Given the description of an element on the screen output the (x, y) to click on. 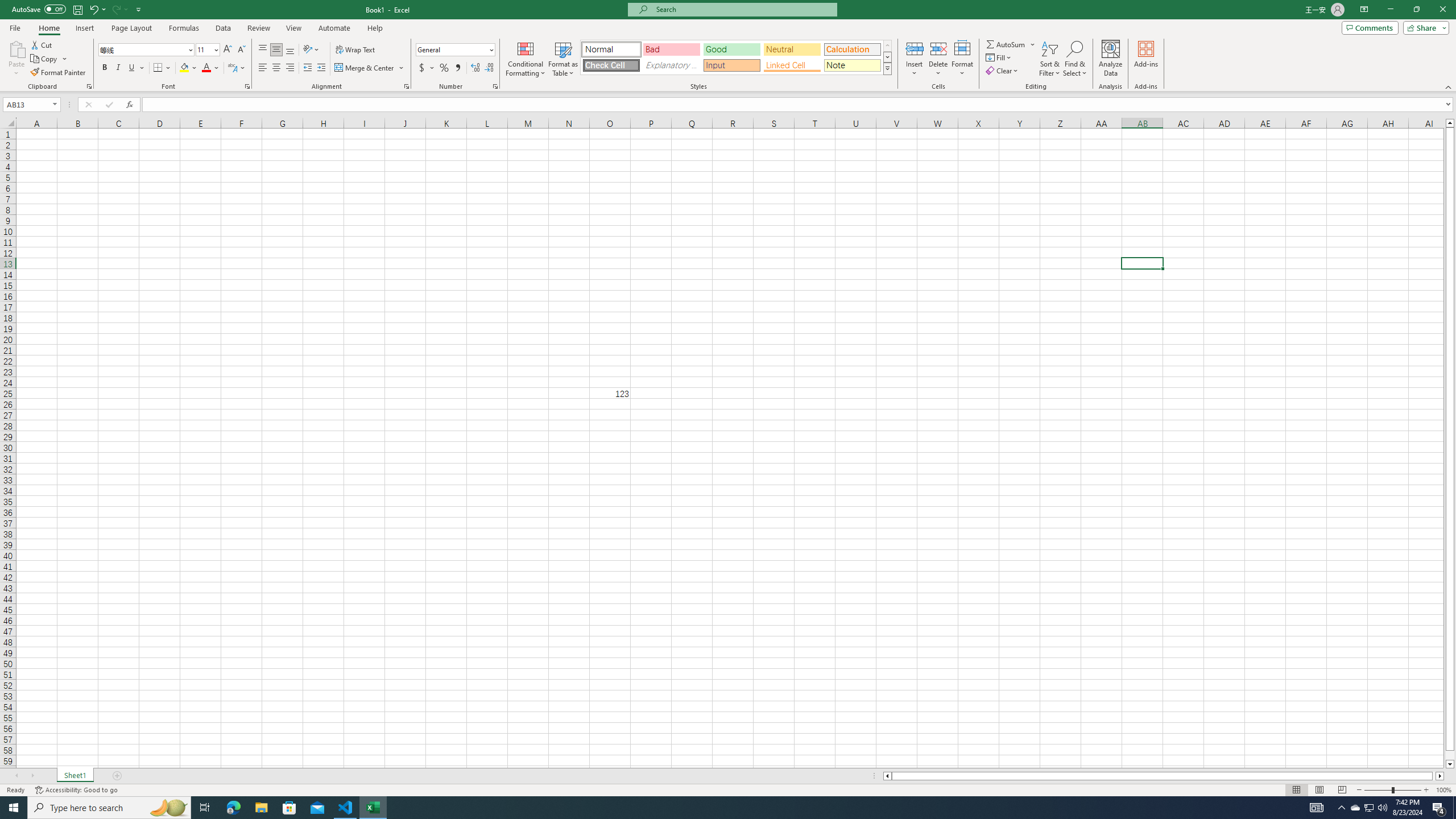
Zoom In (1426, 790)
Comma Style (457, 67)
Wrap Text (355, 49)
Number Format (451, 49)
Insert Cells (914, 48)
Font Color RGB(255, 0, 0) (206, 67)
Merge & Center (365, 67)
Increase Font Size (227, 49)
Bottom Border (157, 67)
Copy (49, 58)
Increase Indent (320, 67)
Class: MsoCommandBar (728, 45)
Underline (136, 67)
Review (258, 28)
